Given the description of an element on the screen output the (x, y) to click on. 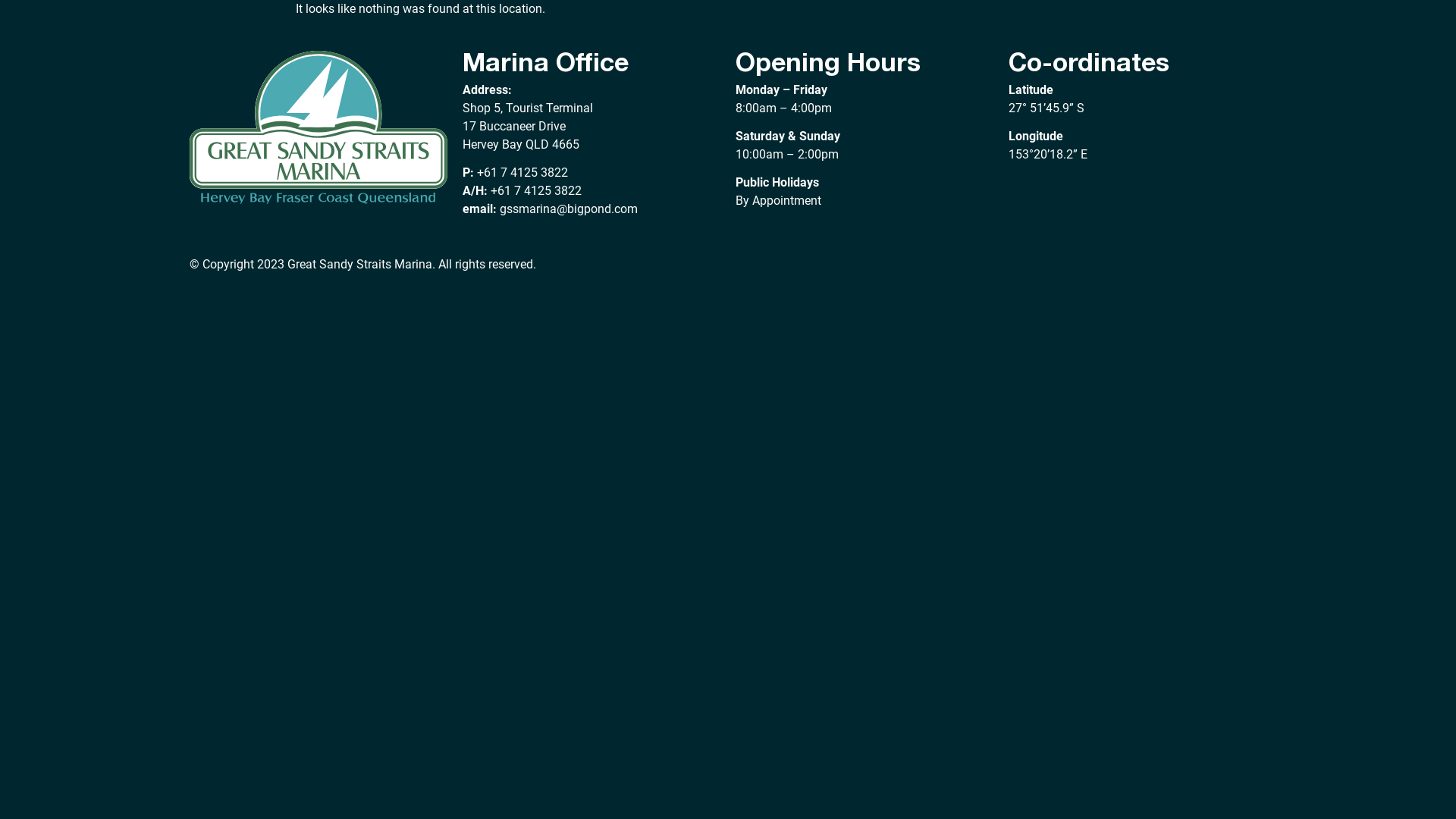
+61 7 4125 3822 Element type: text (521, 172)
+61 7 4125 3822 Element type: text (535, 190)
gssmarina@bigpond.com Element type: text (568, 208)
